Given the description of an element on the screen output the (x, y) to click on. 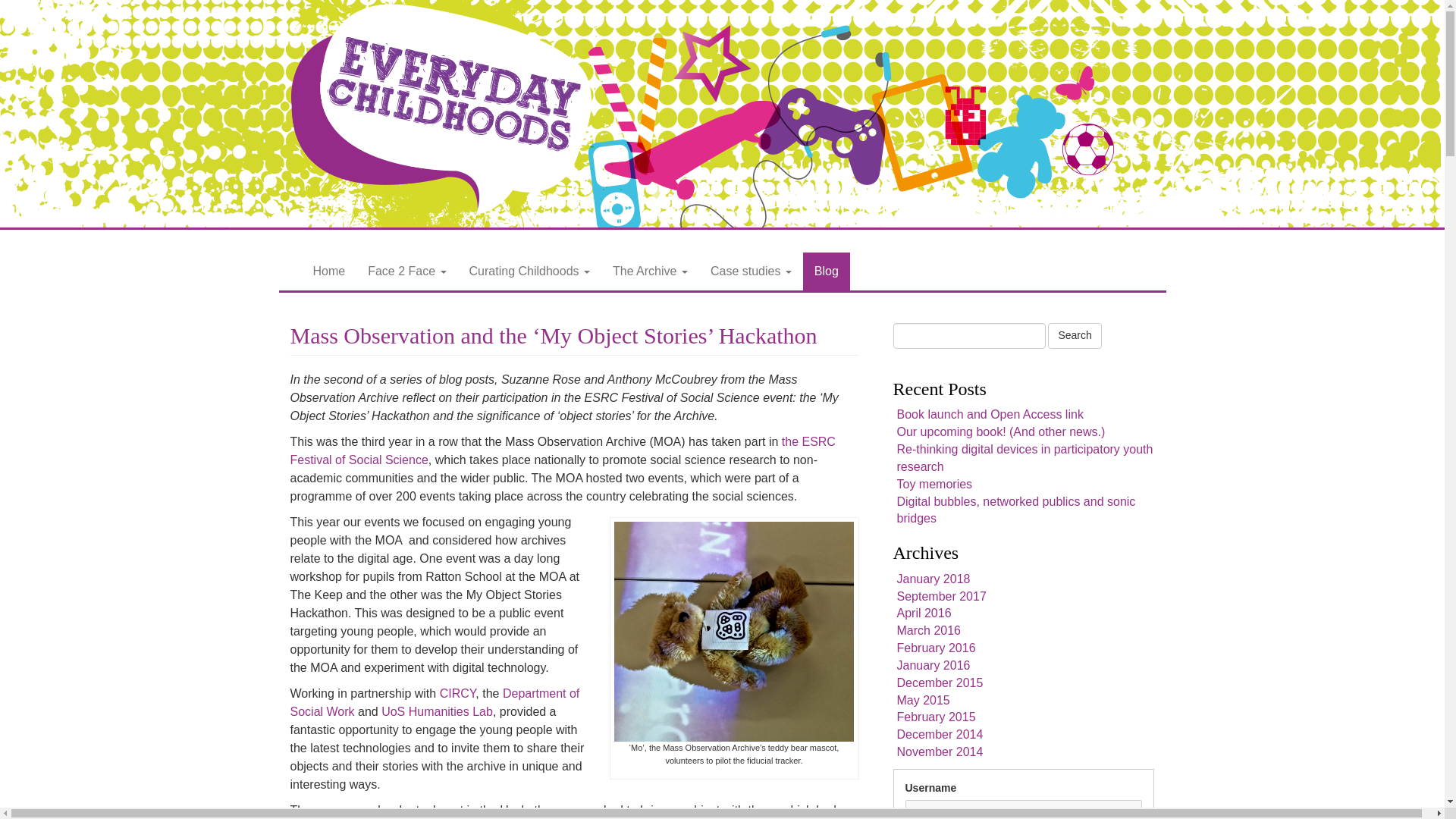
Blog (826, 271)
Case studies (750, 271)
Home (328, 271)
UoS Humanities Lab (437, 711)
Curating Childhoods (529, 271)
The Archive (649, 271)
The Archive (649, 271)
Curating Childhoods (529, 271)
CIRCY (457, 693)
the ESRC Festival of Social Science (561, 450)
